Given the description of an element on the screen output the (x, y) to click on. 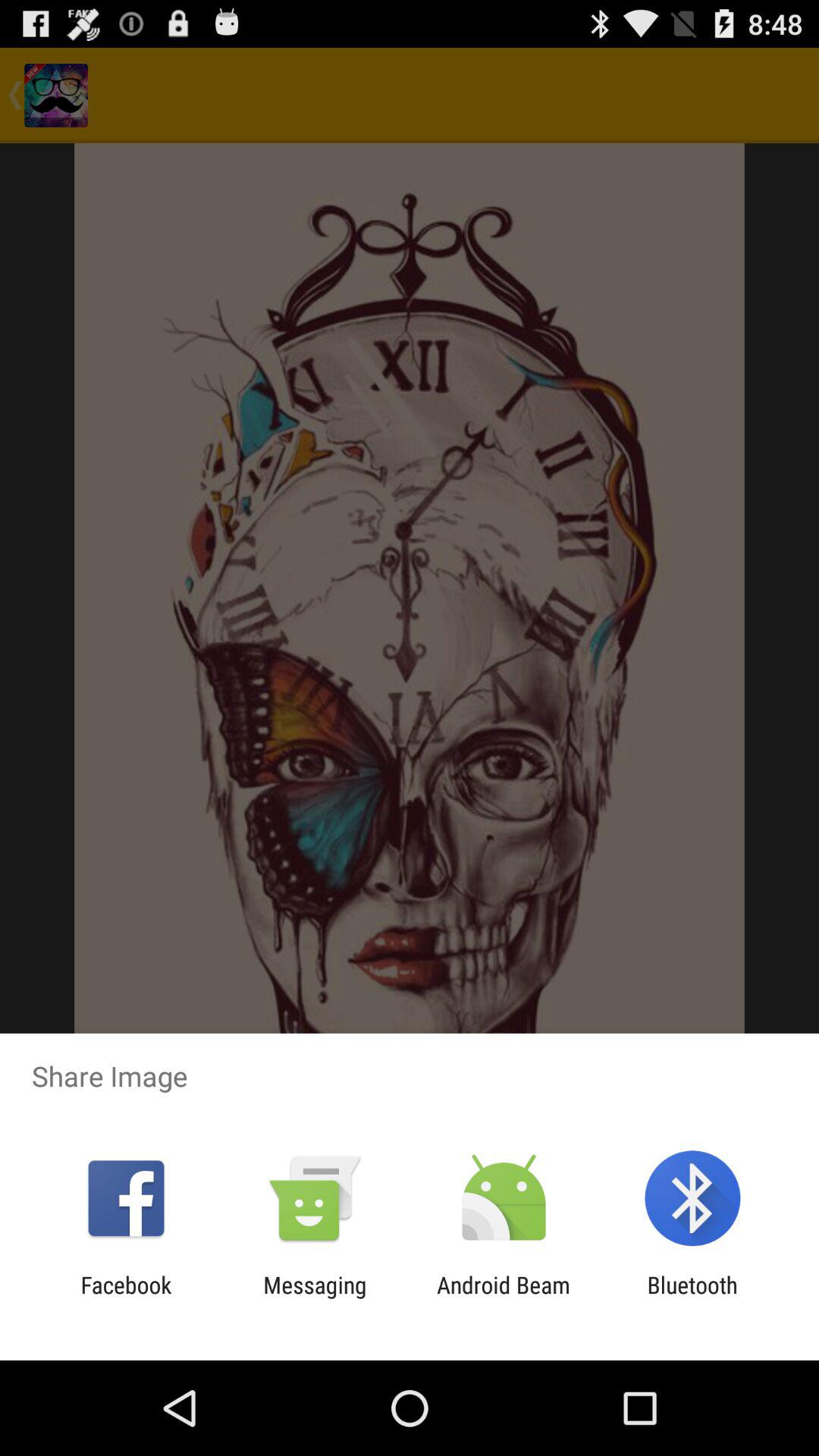
choose the android beam item (503, 1298)
